Given the description of an element on the screen output the (x, y) to click on. 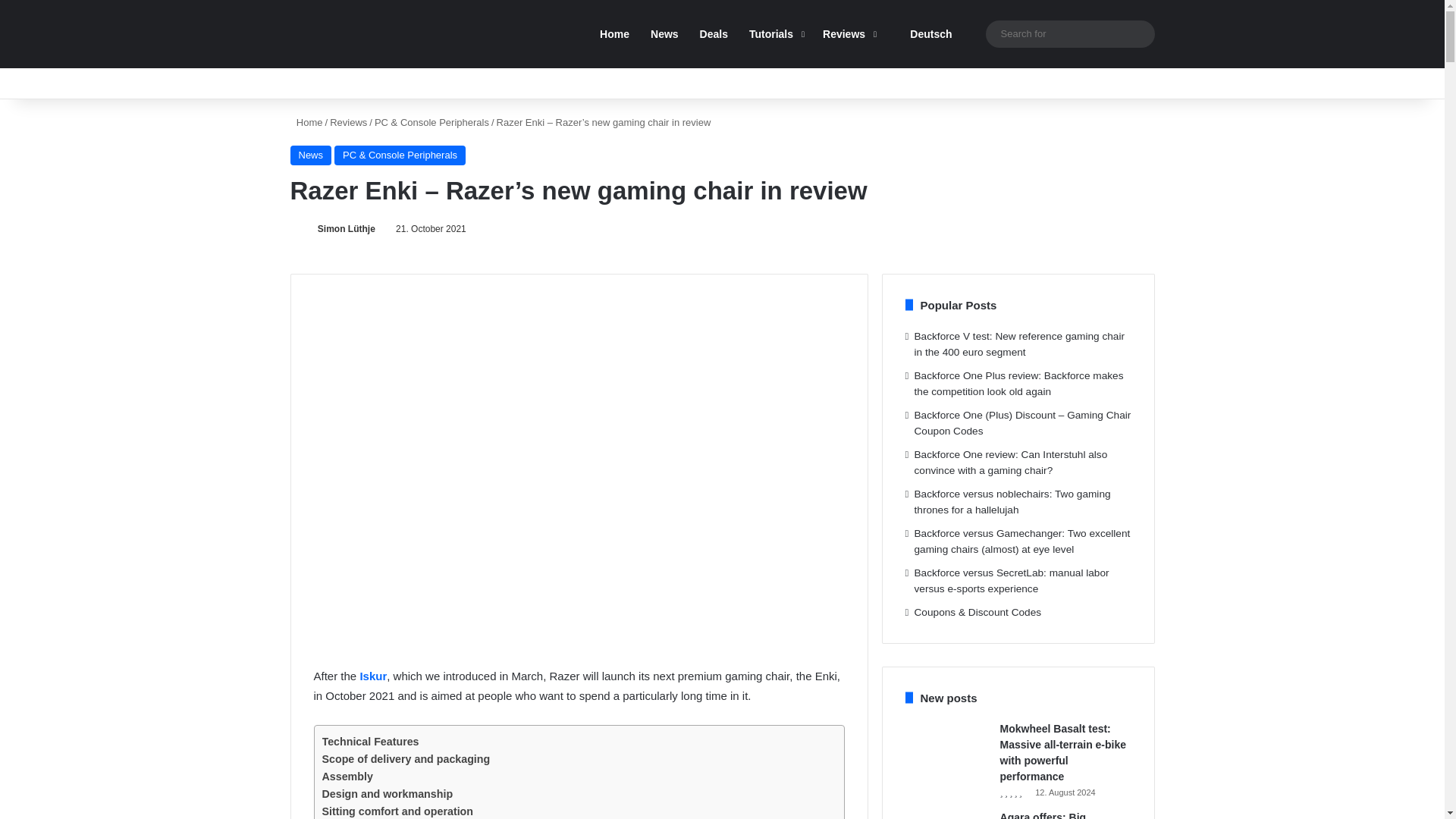
Design and workmanship (386, 794)
Reviews (348, 122)
Technical Features (370, 742)
Scope of delivery and packaging (405, 759)
Tutorials (775, 33)
Sitting comfort and operation (397, 811)
News (310, 155)
Reviews (847, 33)
Search for (1139, 33)
Assembly (346, 776)
